Given the description of an element on the screen output the (x, y) to click on. 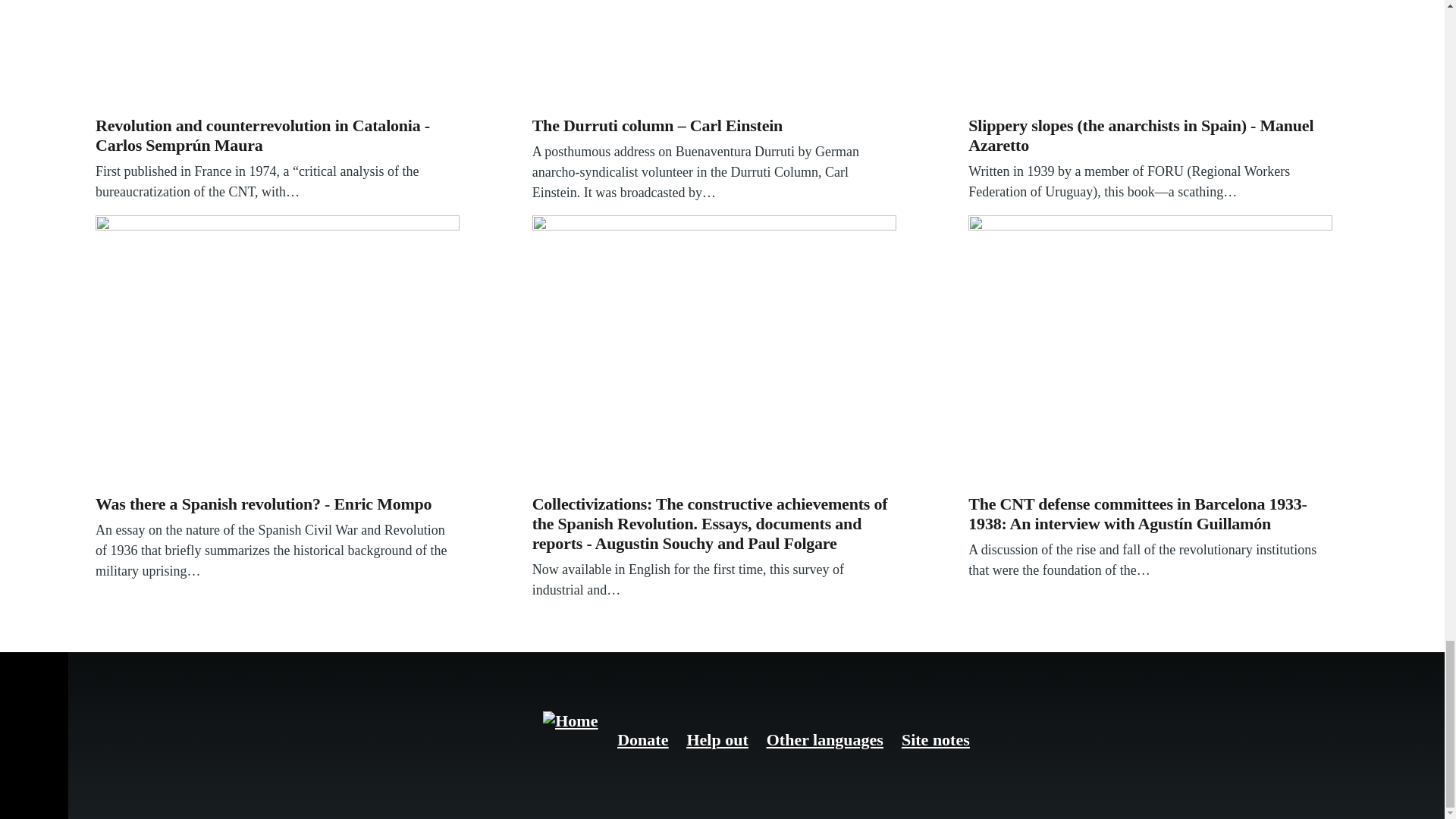
Workers' barricade during the Spanish Civil War (1150, 351)
The Central Committee of Antifascist Militias (1150, 54)
libcom content in languages other than English (825, 739)
The Durruti Column (714, 54)
